Given the description of an element on the screen output the (x, y) to click on. 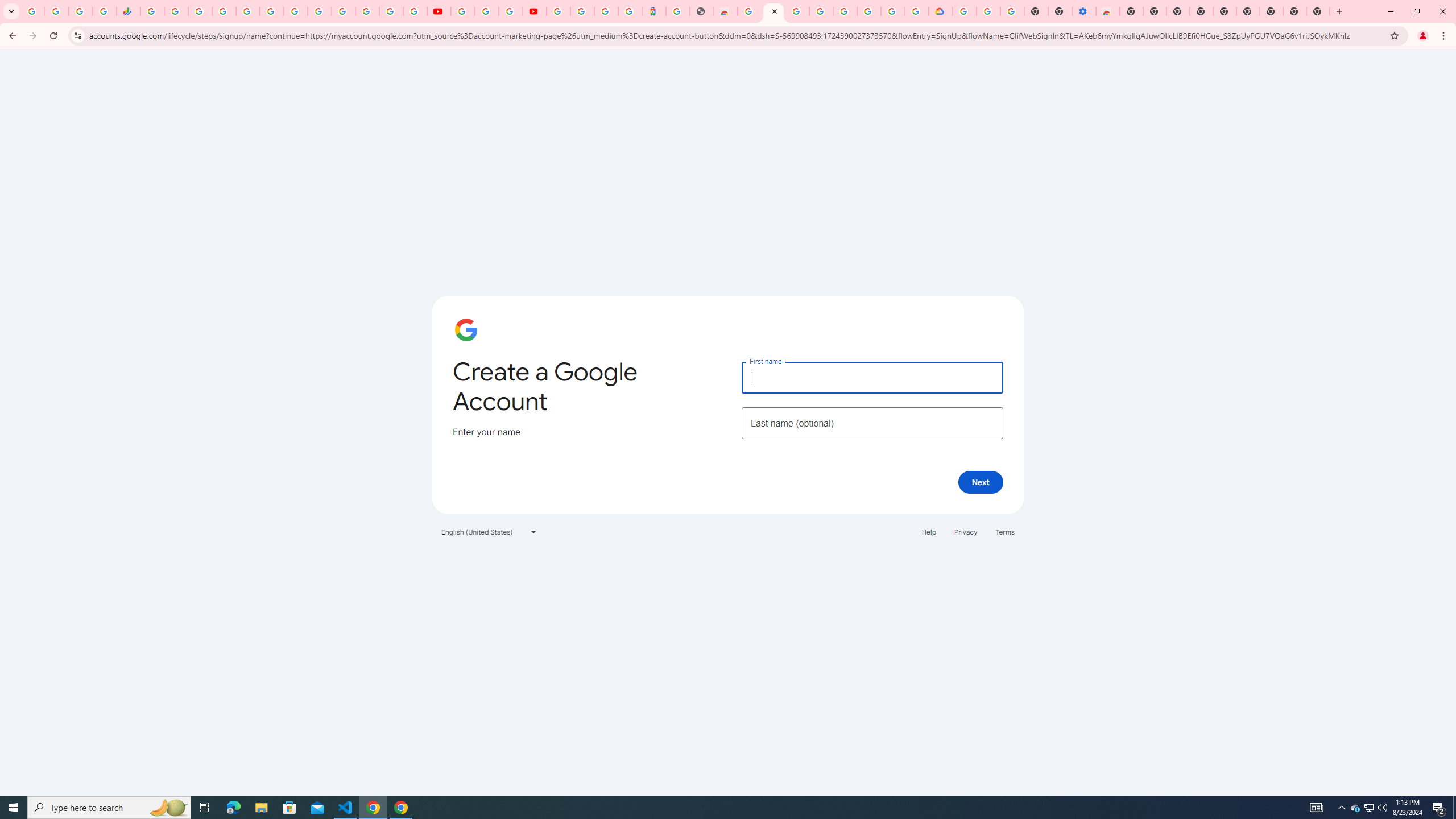
Create your Google Account (893, 11)
Content Creator Programs & Opportunities - YouTube Creators (533, 11)
Browse the Google Chrome Community - Google Chrome Community (916, 11)
Chrome Web Store - Household (725, 11)
Last name (optional) (871, 422)
Sign in - Google Accounts (820, 11)
YouTube (462, 11)
YouTube (319, 11)
